Given the description of an element on the screen output the (x, y) to click on. 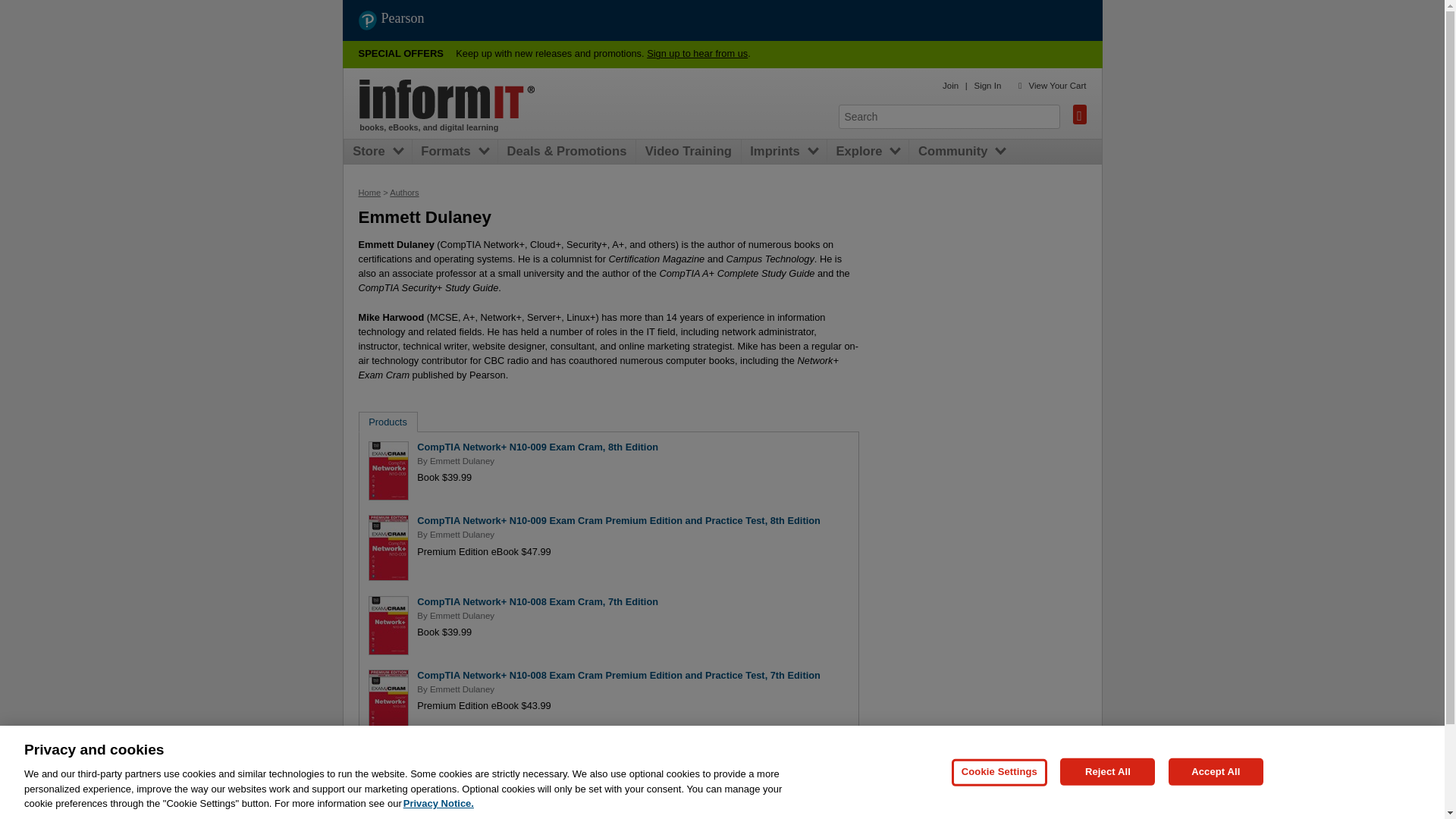
Sign In (987, 85)
Emmett Dulaney (462, 533)
View Your Cart (1057, 85)
Join (950, 85)
Store (372, 151)
Sign up to hear from us (697, 52)
Authors (404, 192)
Emmett Dulaney (462, 614)
Home (446, 98)
Emmett Dulaney (462, 461)
Home (369, 192)
Products (387, 421)
Emmett Dulaney (462, 688)
